Given the description of an element on the screen output the (x, y) to click on. 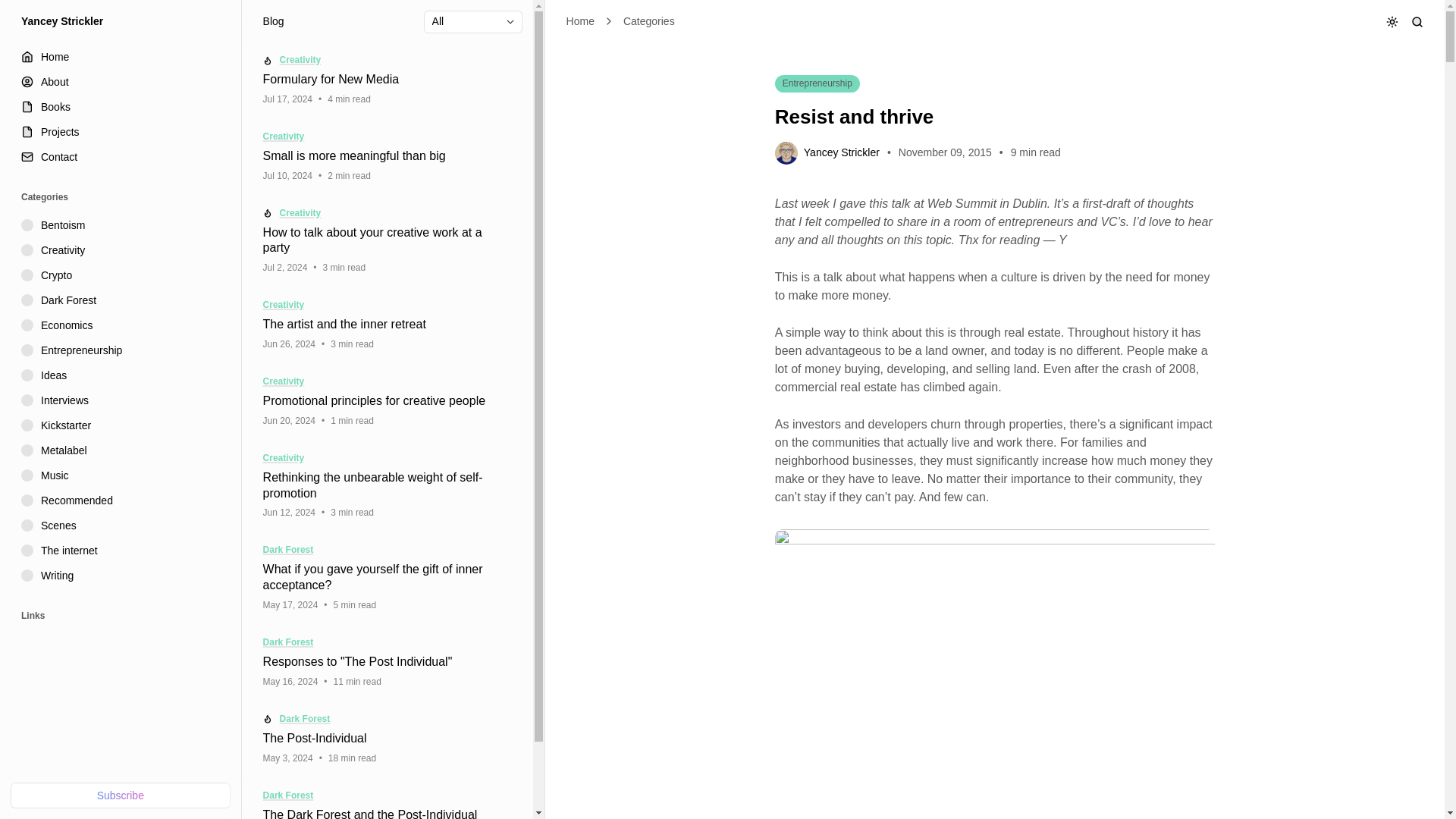
system (1350, 106)
The internet (122, 550)
Music (122, 475)
Home (580, 21)
Metalabel (122, 450)
Home (122, 56)
Crypto (122, 275)
Recommended (122, 500)
Entrepreneurship (122, 350)
Dark Forest (122, 300)
